Given the description of an element on the screen output the (x, y) to click on. 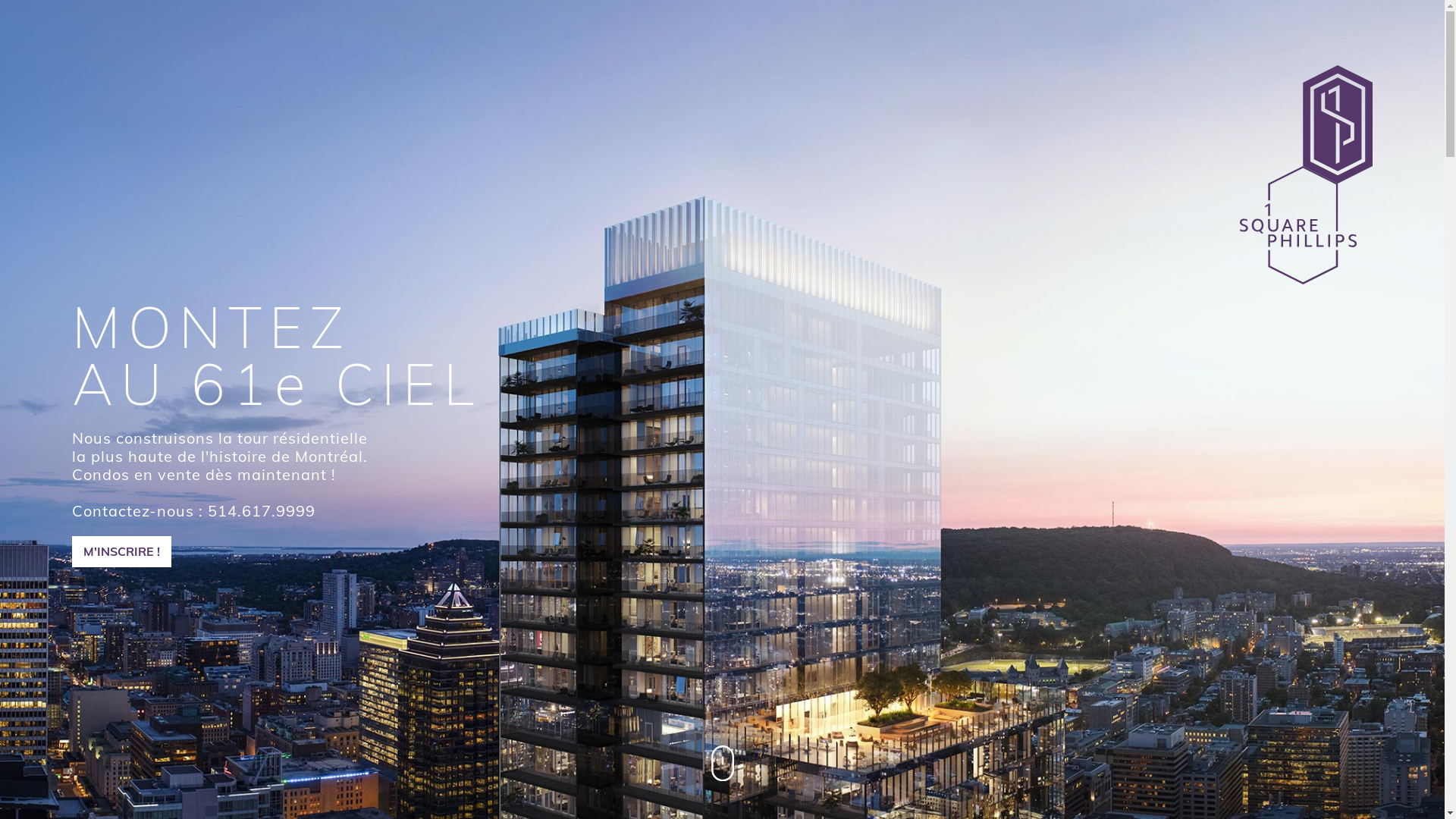
M'INSCRIRE ! Element type: text (121, 551)
logo Element type: hover (1305, 174)
514.617.9999 Element type: text (261, 510)
